Given the description of an element on the screen output the (x, y) to click on. 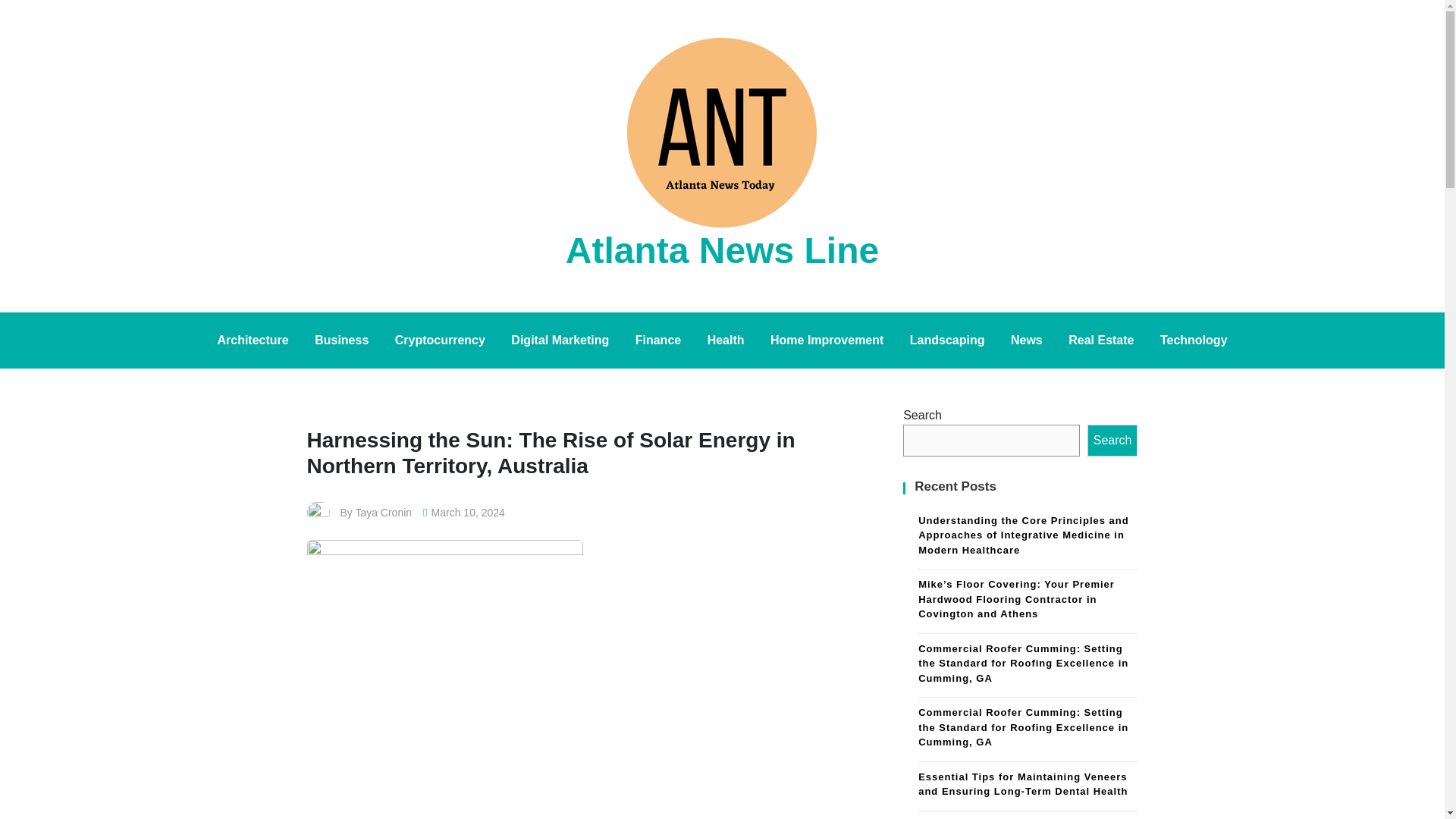
Architecture (252, 340)
Search (1112, 440)
Digital Marketing (559, 340)
Business (341, 340)
Real Estate (1100, 340)
Technology (1193, 340)
Home Improvement (826, 340)
Landscaping (946, 340)
Finance (658, 340)
Health (725, 340)
Taya Cronin (383, 512)
Atlanta News Line (722, 250)
